Given the description of an element on the screen output the (x, y) to click on. 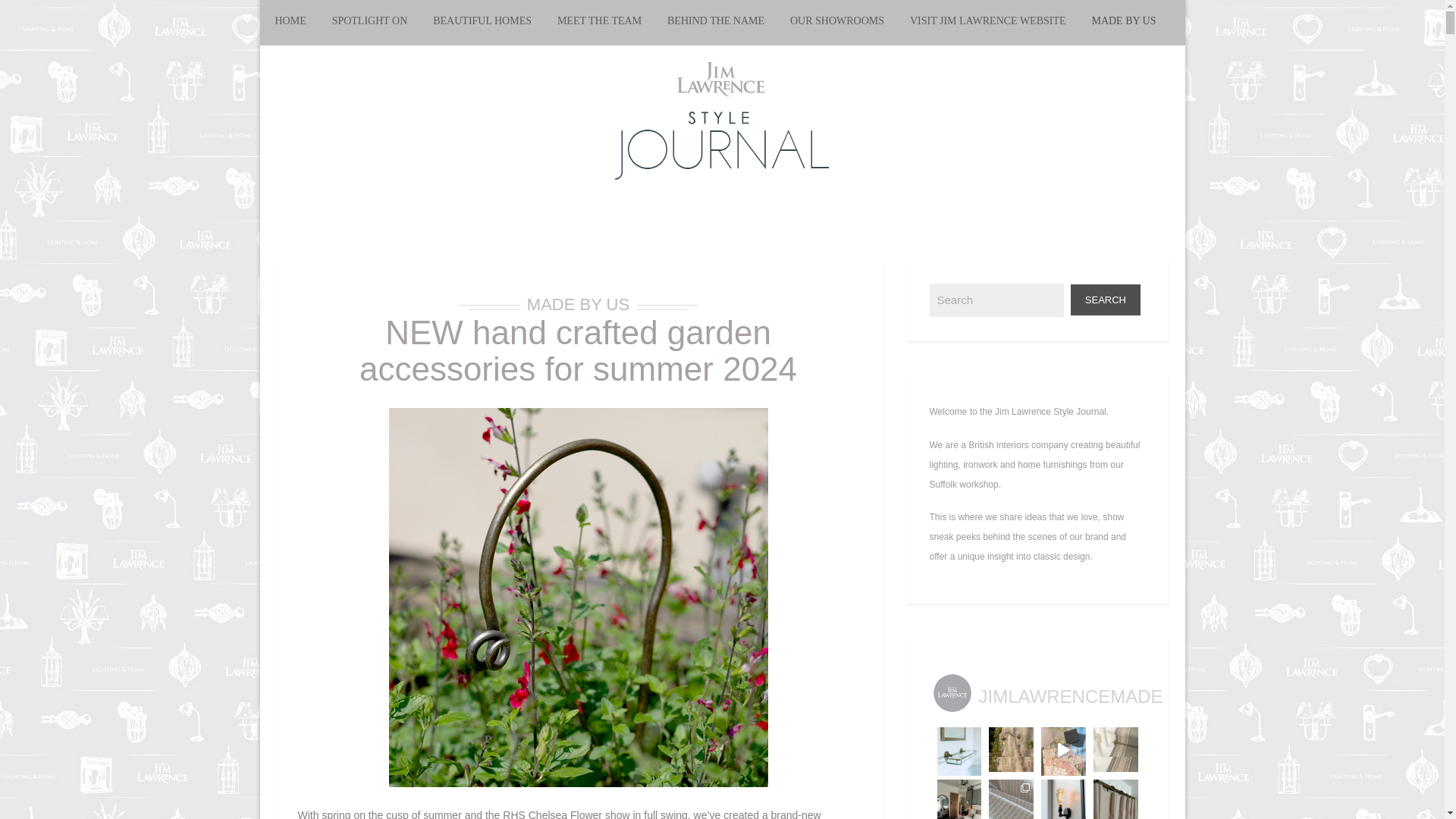
MADE BY US (577, 303)
MEET THE TEAM (599, 22)
BEAUTIFUL HOMES (482, 22)
NEW hand crafted garden accessories for summer 2024 (577, 350)
HOME (296, 22)
BEHIND THE NAME (716, 22)
OUR SHOWROOMS (836, 22)
SPOTLIGHT ON (369, 22)
